Given the description of an element on the screen output the (x, y) to click on. 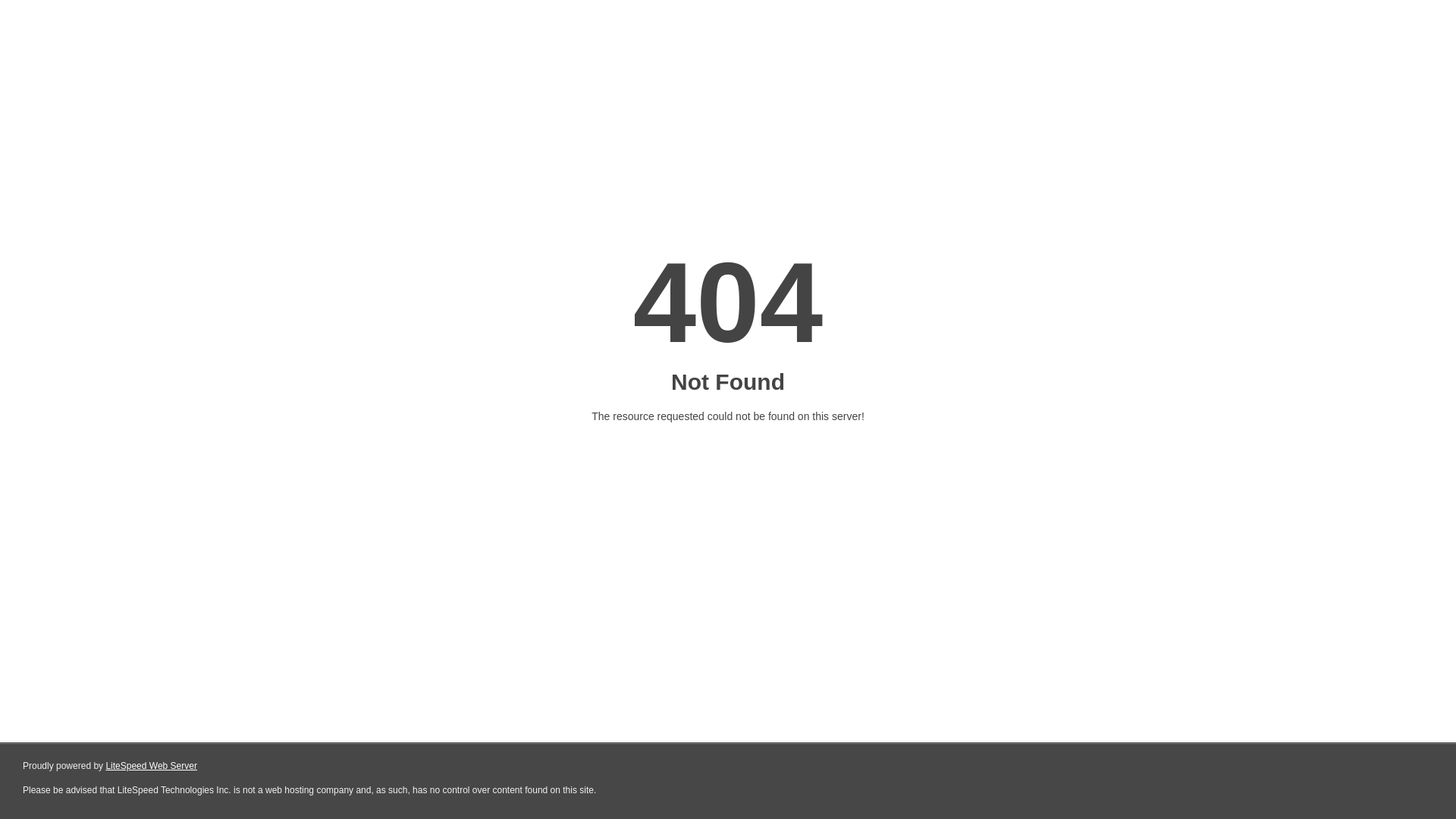
LiteSpeed Web Server (150, 765)
